Given the description of an element on the screen output the (x, y) to click on. 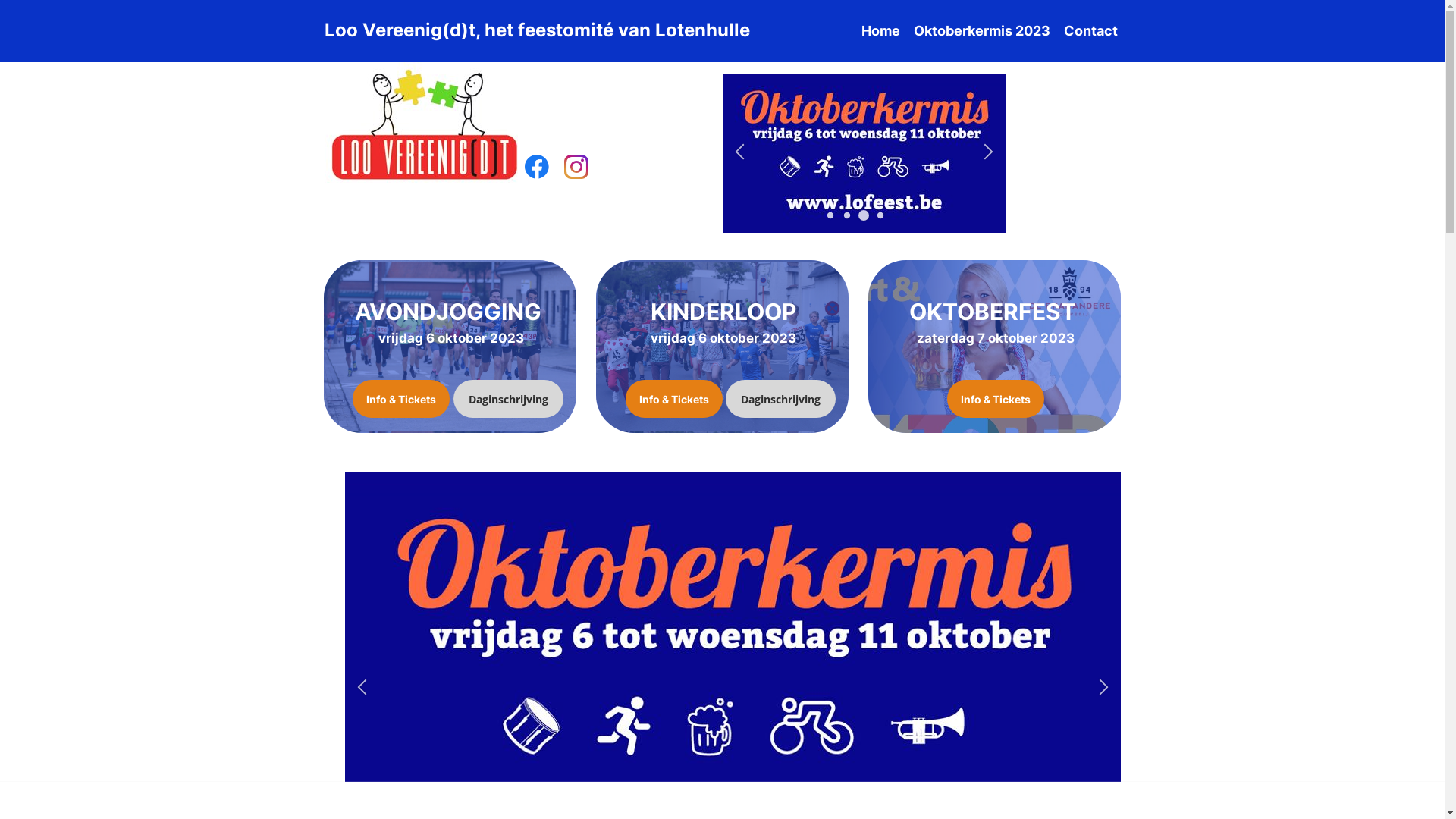
Info & Tickets Element type: text (399, 398)
Info & Tickets Element type: text (994, 398)
Contact Element type: text (1090, 30)
Flyer_digitaal_oktoberfest_2 Element type: hover (580, 152)
2023_Oktoberkermis-2-facebook Element type: hover (862, 152)
Home Element type: text (880, 30)
Info & Tickets Element type: text (672, 398)
Daginschrijving Element type: text (508, 398)
Oktoberkermis 2023 Element type: text (981, 30)
Daginschrijving Element type: text (779, 398)
